Given the description of an element on the screen output the (x, y) to click on. 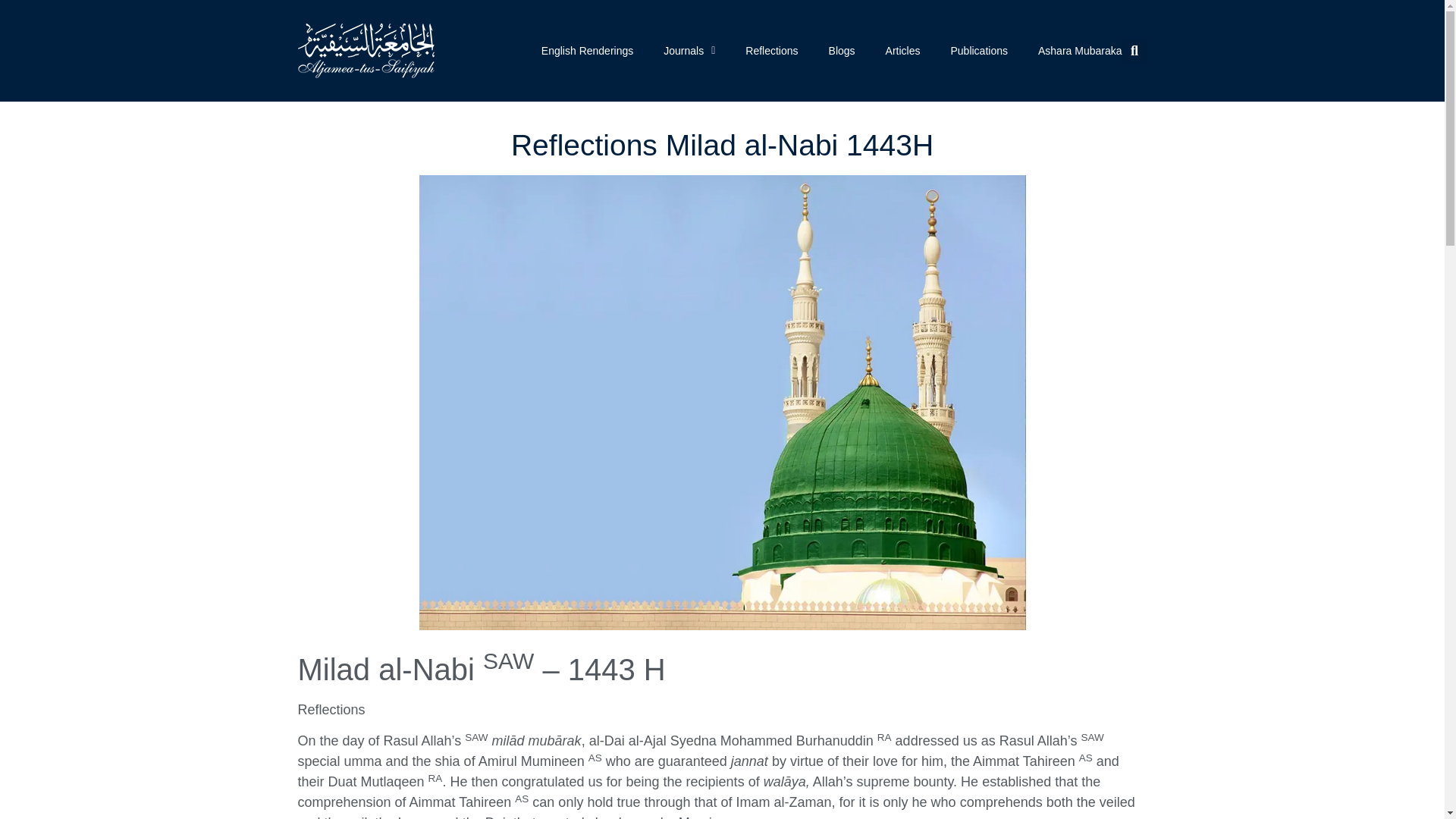
English Renderings (587, 50)
Reflections (771, 50)
Publications (978, 50)
Articles (902, 50)
Ashara Mubaraka (1080, 50)
Journals (688, 50)
